Given the description of an element on the screen output the (x, y) to click on. 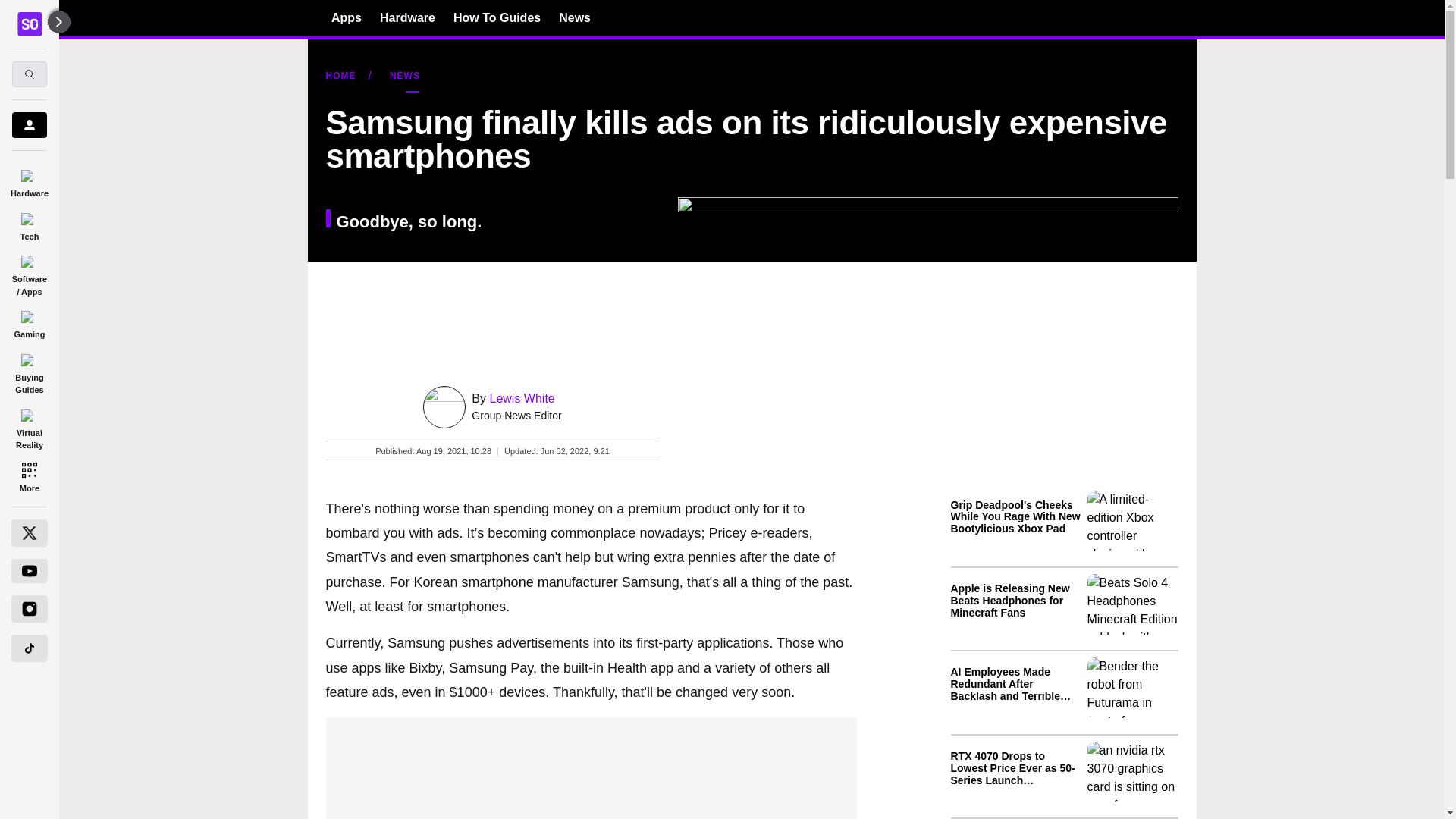
Hardware (28, 180)
More (28, 476)
News (575, 18)
Tech (28, 224)
How To Guides (496, 18)
Hardware (407, 18)
Apps (346, 18)
Gaming (28, 322)
